Given the description of an element on the screen output the (x, y) to click on. 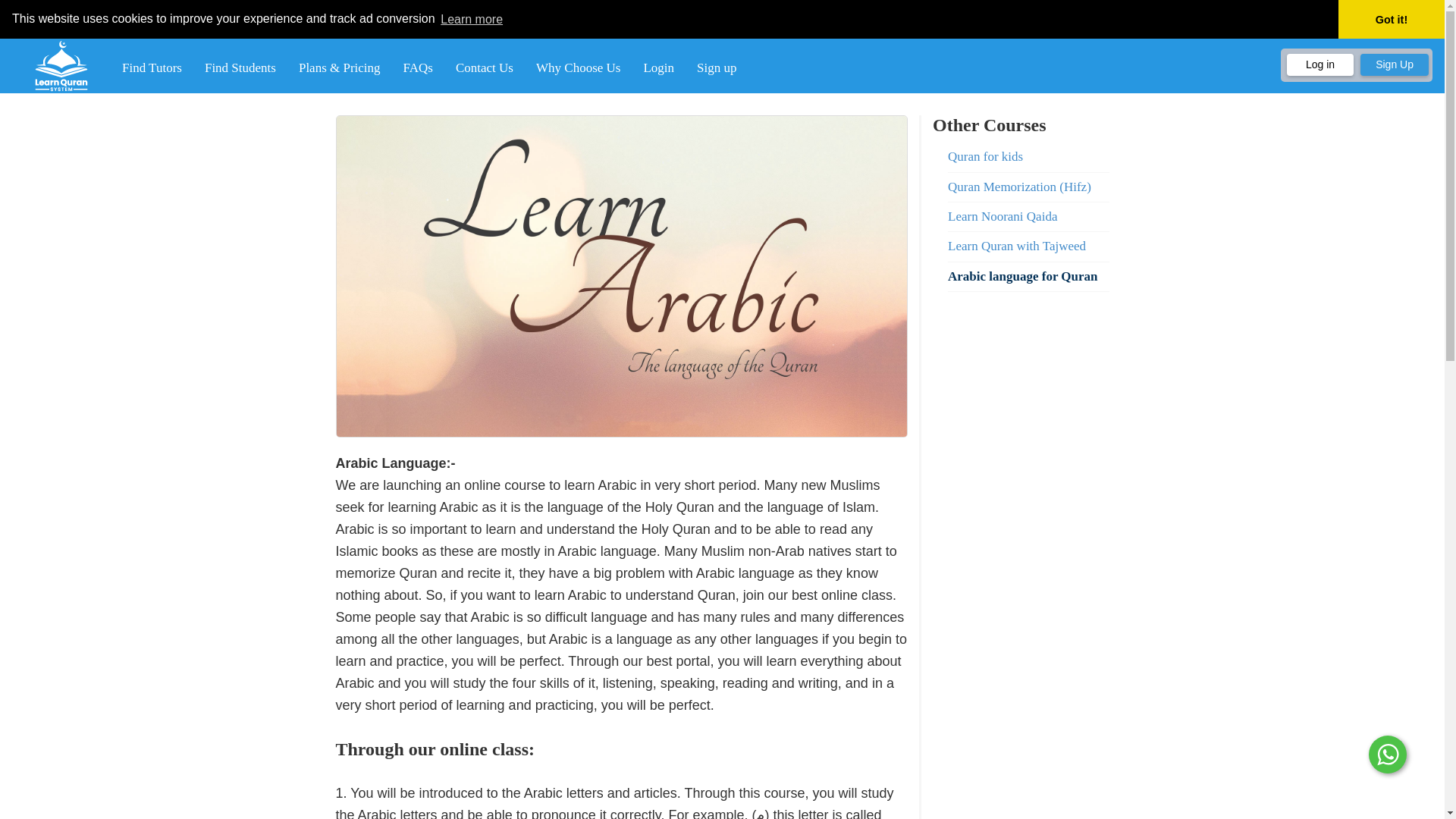
Sign Up (1393, 65)
Log in (1320, 65)
Learn Quran System (60, 65)
Contact Us (484, 67)
Arabic language for Quran (1028, 276)
Sign up (716, 67)
Find Tutors (151, 67)
Learn more (471, 18)
Learn Noorani Qaida (1028, 216)
Login (658, 67)
Quran for kids (1028, 156)
Why Choose Us (577, 67)
Find Students (239, 67)
Learn Quran with Tajweed (1028, 246)
FAQs (417, 67)
